Given the description of an element on the screen output the (x, y) to click on. 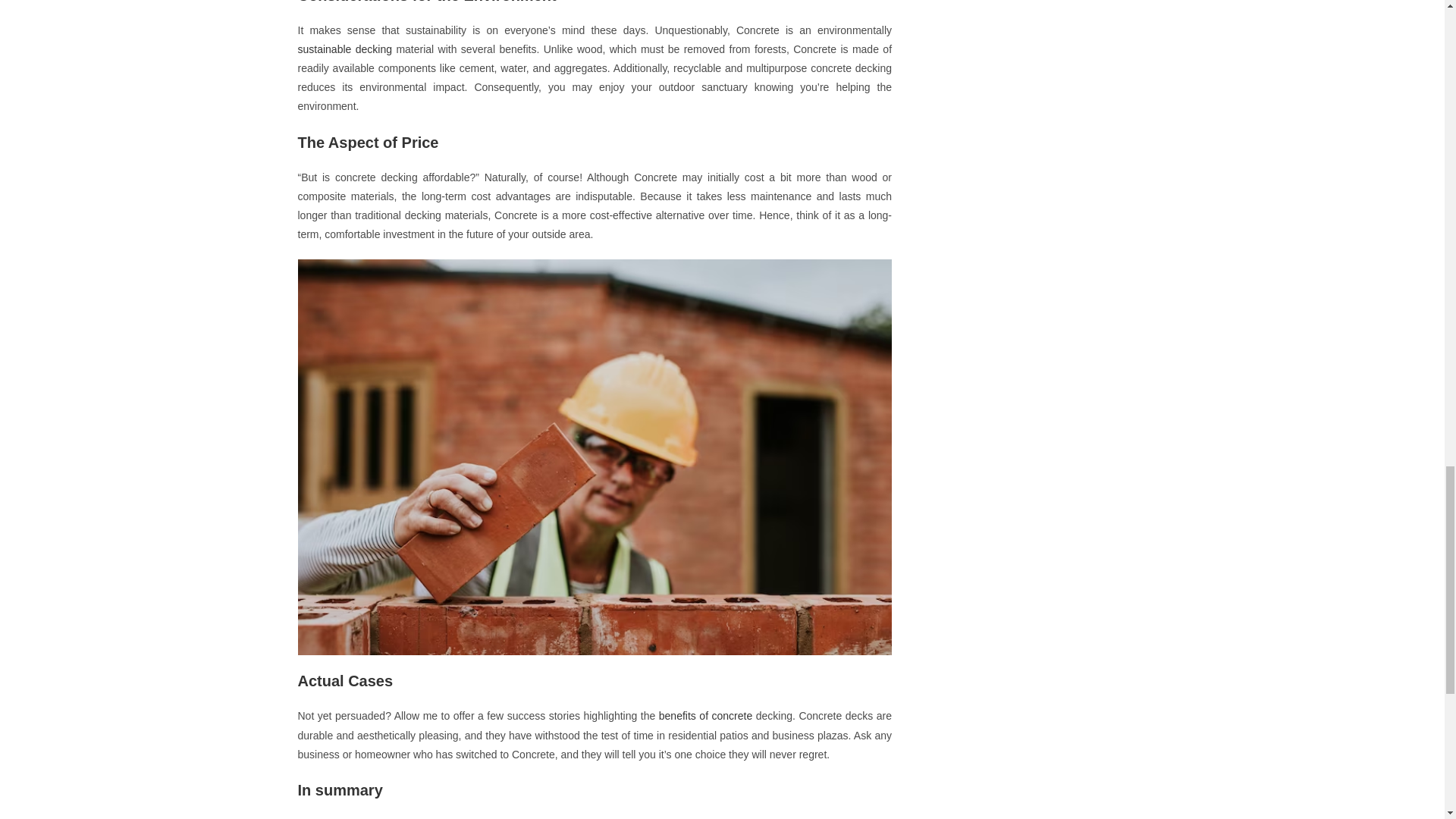
benefits of concrete (705, 715)
sustainable decking (344, 49)
